Given the description of an element on the screen output the (x, y) to click on. 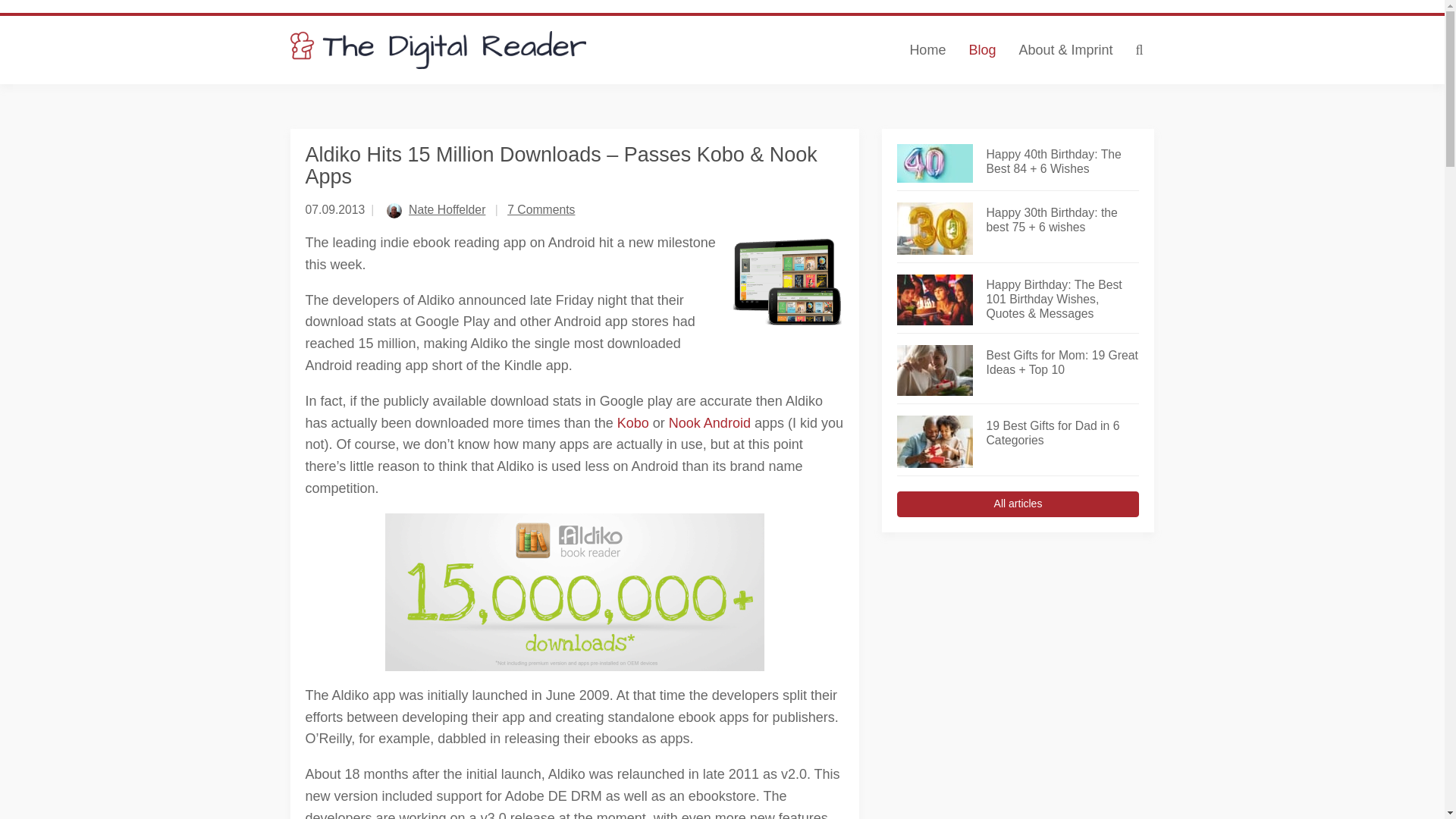
Home (927, 49)
Nook Android (709, 422)
Nate Hoffelder (446, 209)
7 Comments (540, 209)
The Digital Reader (437, 49)
Kobo (633, 422)
Blog (981, 49)
